Given the description of an element on the screen output the (x, y) to click on. 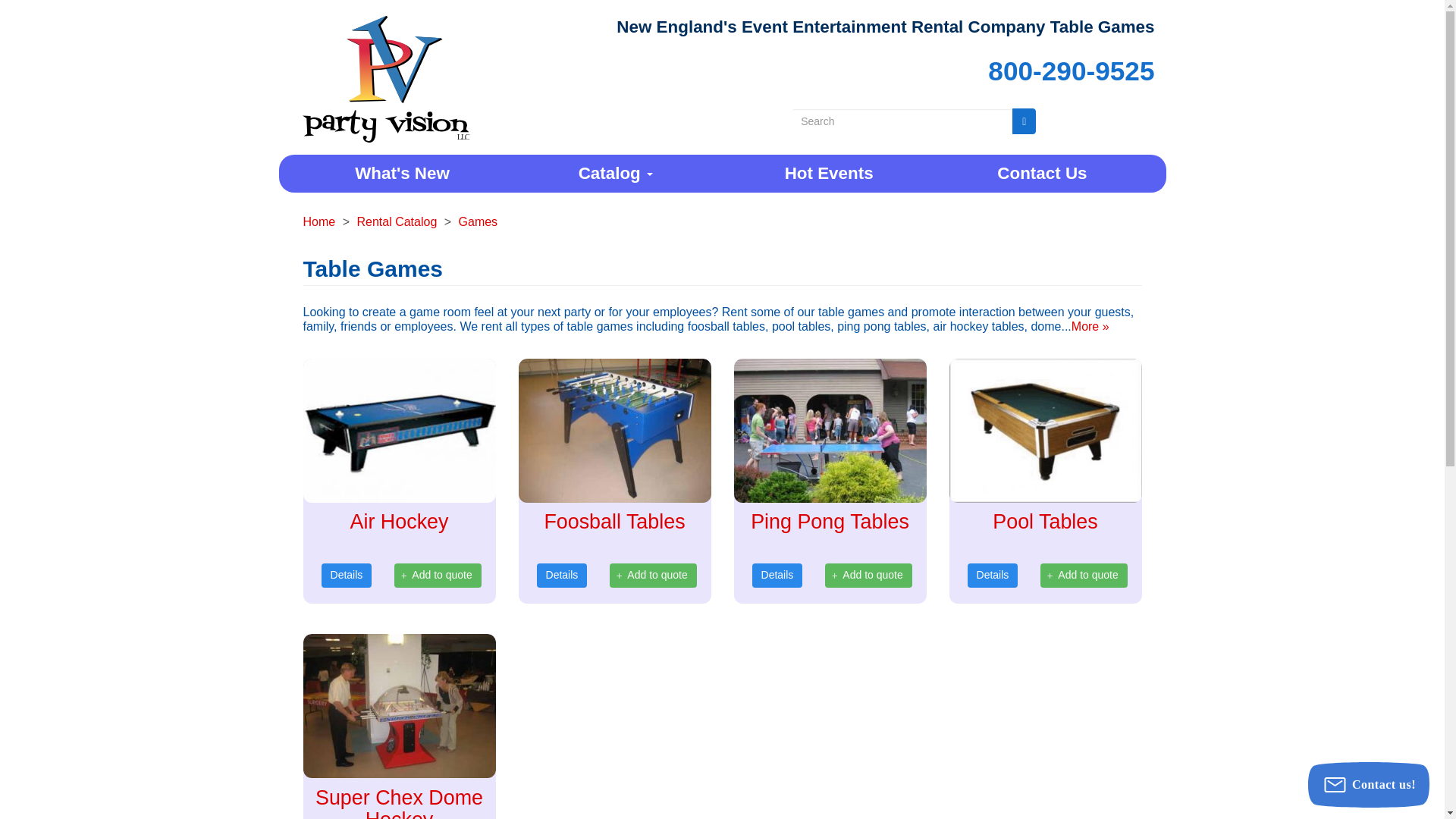
What's New (401, 173)
